Given the description of an element on the screen output the (x, y) to click on. 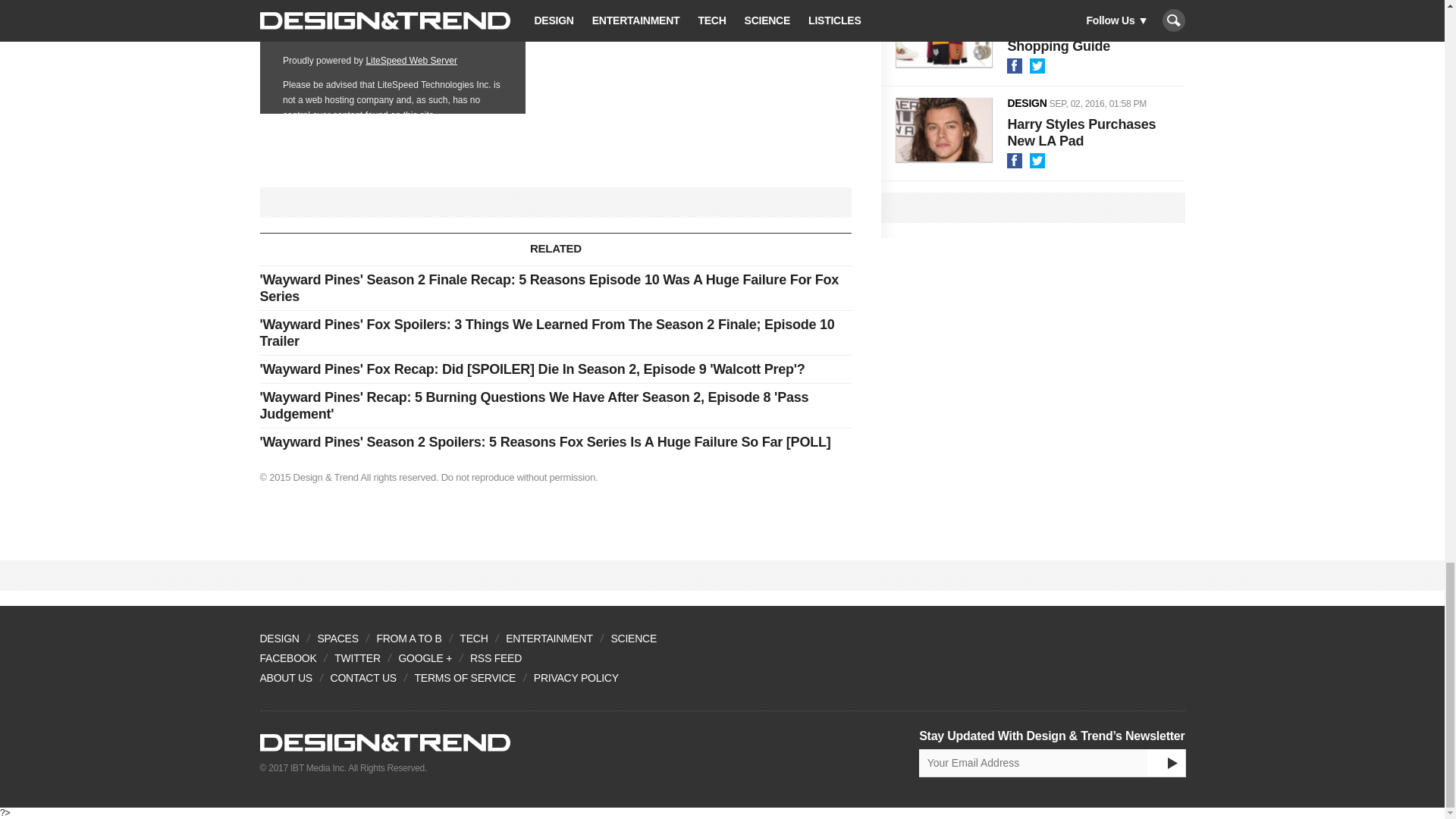
Poll (391, 56)
